Given the description of an element on the screen output the (x, y) to click on. 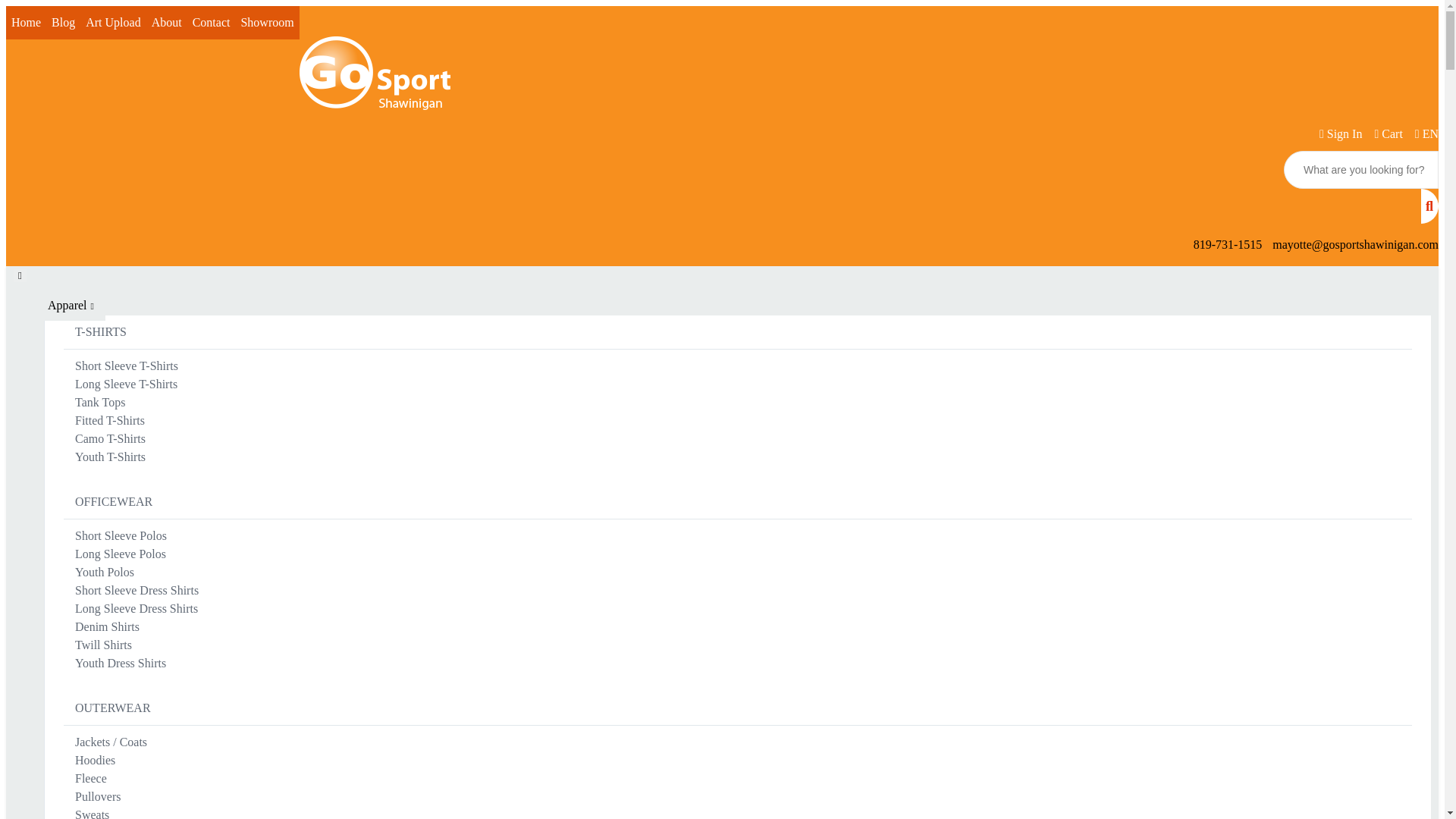
Art Upload (112, 22)
Sign In (1338, 133)
Short Sleeve Dress Shirts (136, 589)
Long Sleeve Polos (120, 553)
Long Sleeve T-Shirts (126, 383)
Short Sleeve Polos (120, 535)
Fitted T-Shirts (109, 420)
Cart (1385, 133)
Short Sleeve T-Shirts (126, 365)
Youth T-Shirts (110, 456)
